Given the description of an element on the screen output the (x, y) to click on. 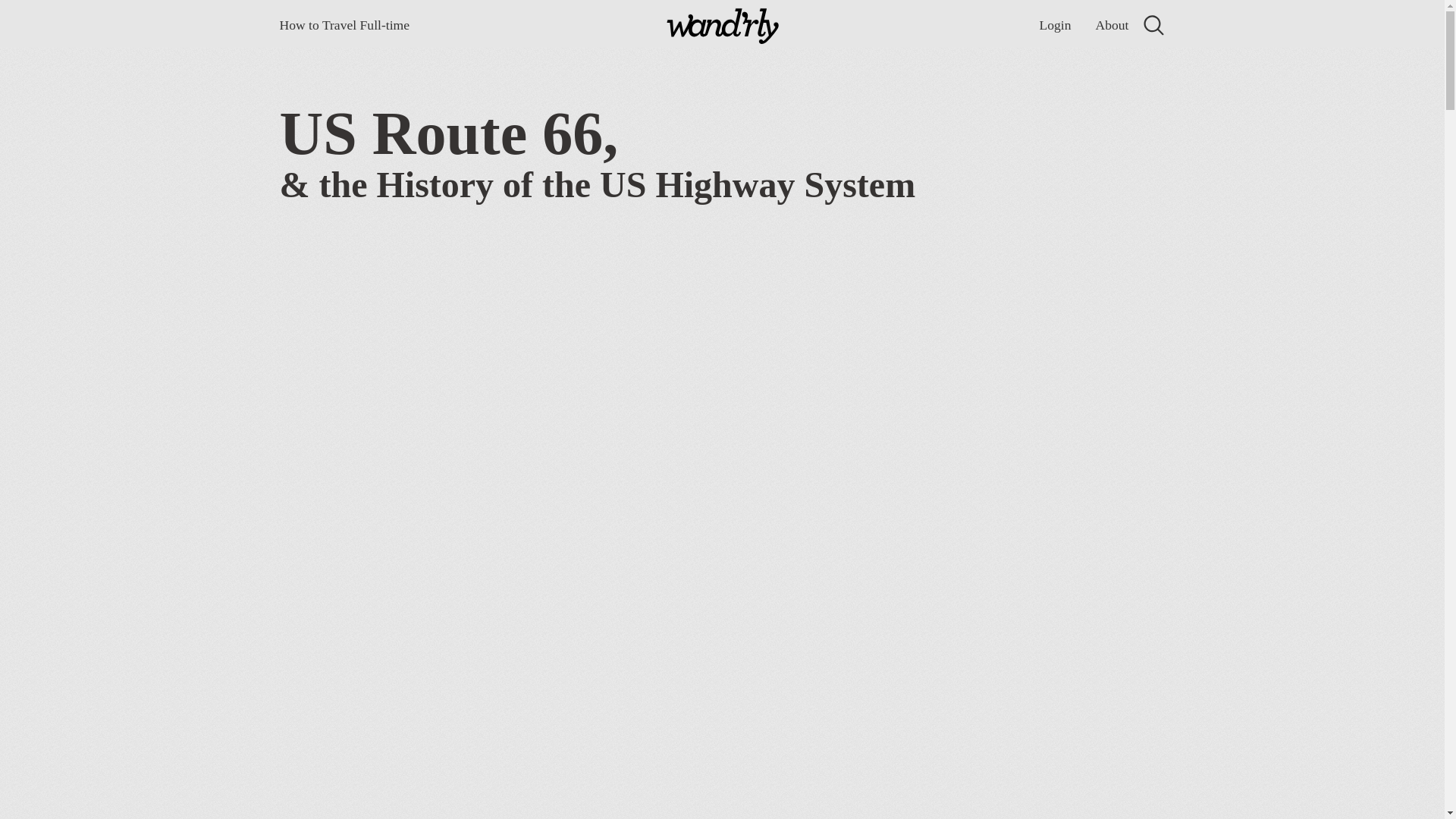
How to Travel Full-time (344, 25)
Click this to open the search form (1152, 25)
Login (1054, 25)
Click this to open the search form (1152, 28)
About (1112, 25)
Return to home page (721, 28)
